Given the description of an element on the screen output the (x, y) to click on. 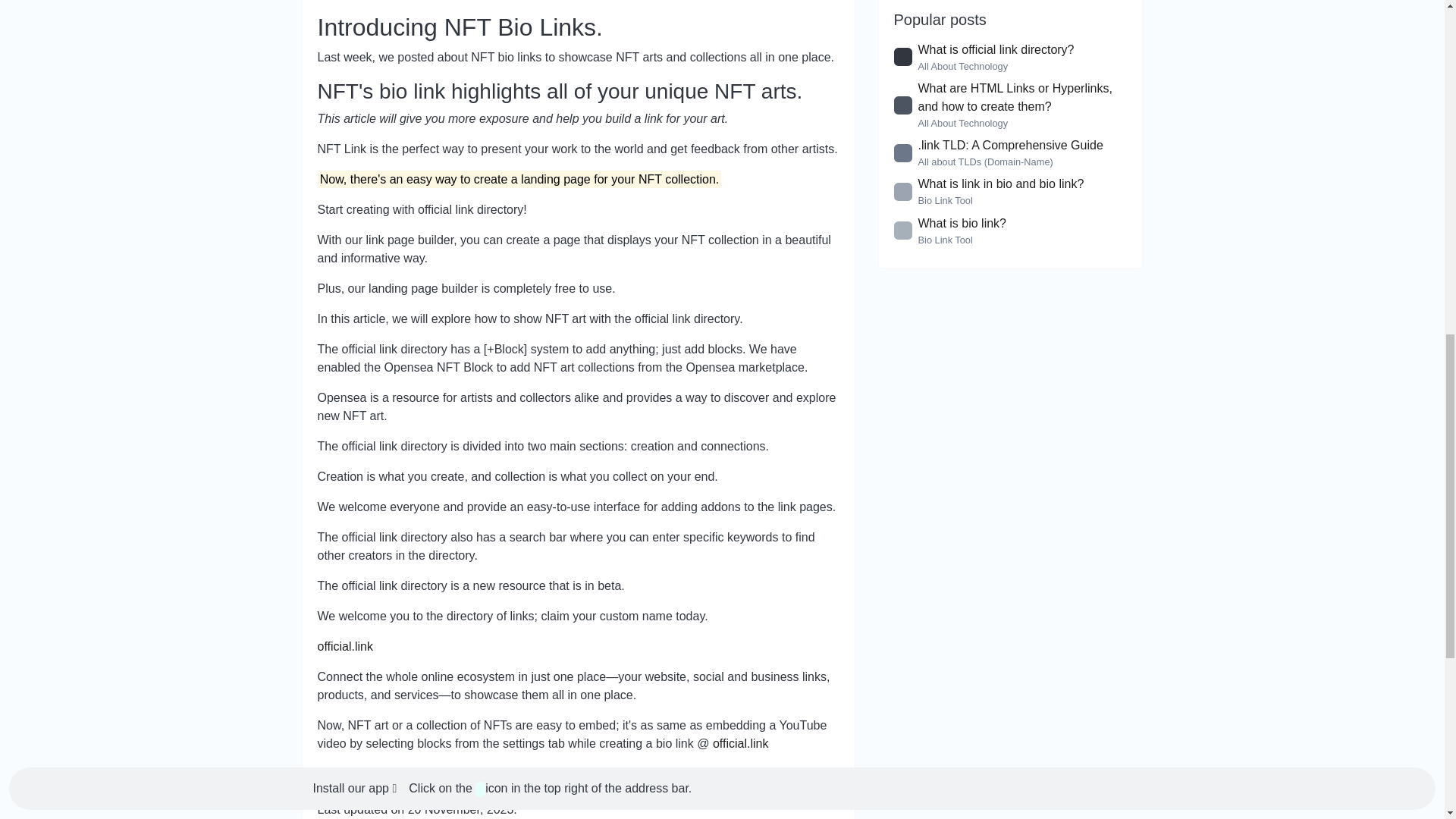
What are HTML Links or Hyperlinks, and how to create them? (1014, 97)
All About Technology (962, 122)
.link TLD: A Comprehensive Guide (1009, 144)
official.link (740, 743)
official.link (344, 645)
All About Technology (962, 66)
What is official link directory? (995, 49)
What is link in bio and bio link? (1000, 183)
